Given the description of an element on the screen output the (x, y) to click on. 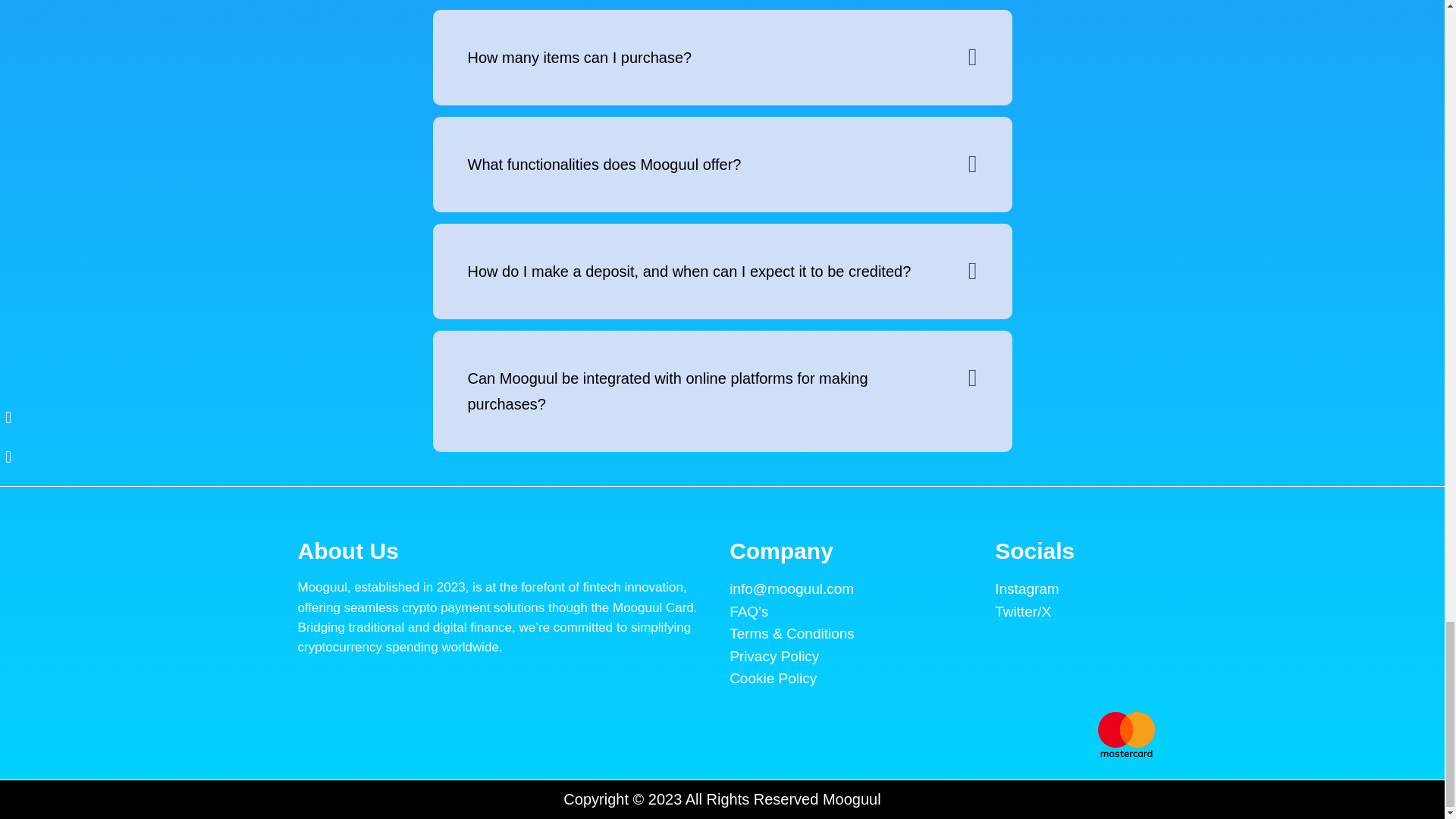
FAQ's (846, 611)
How many items can I purchase? (579, 57)
Privacy Policy (846, 656)
Cookie Policy (846, 678)
Instagram (1070, 588)
What functionalities does Mooguul offer? (604, 164)
